Given the description of an element on the screen output the (x, y) to click on. 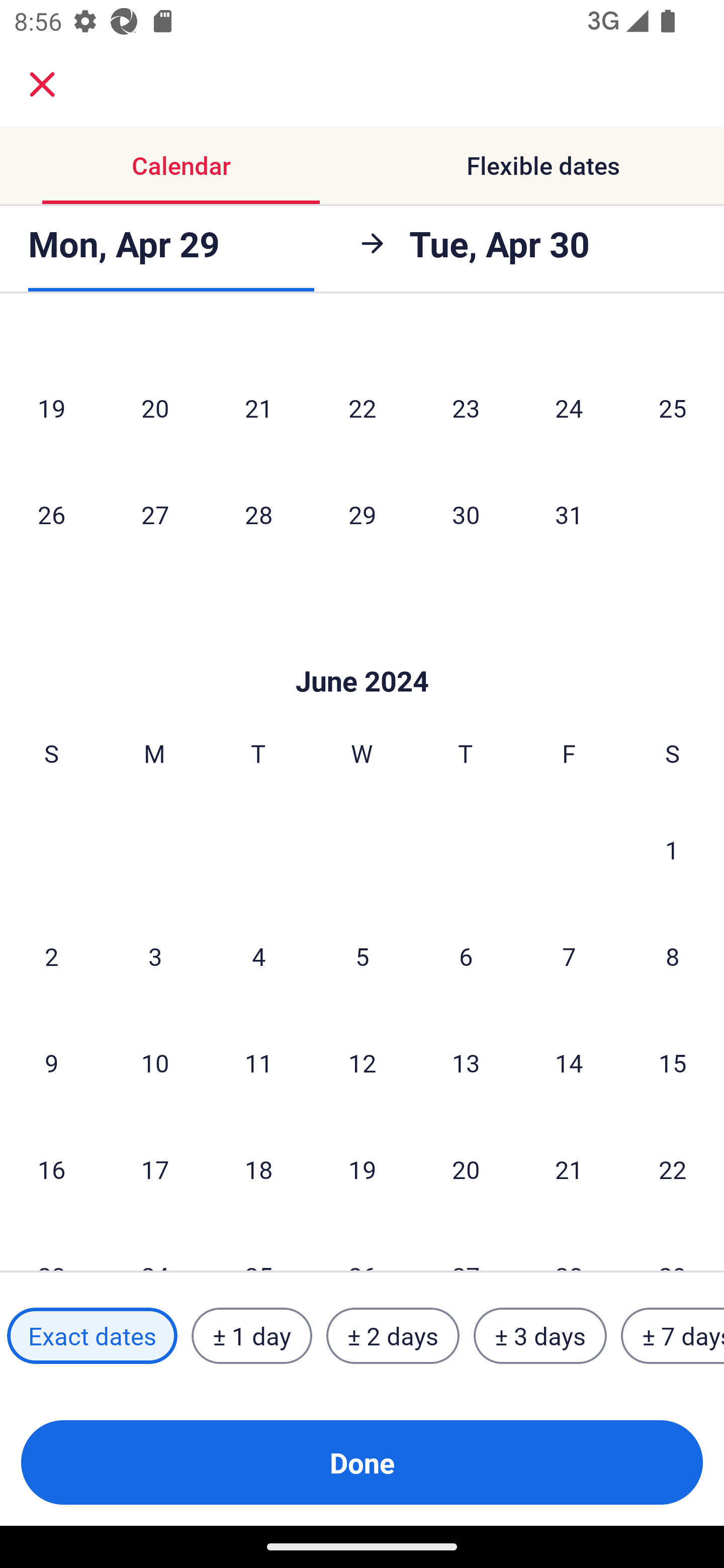
close. (42, 84)
Flexible dates (542, 164)
19 Sunday, May 19, 2024 (51, 407)
20 Monday, May 20, 2024 (155, 407)
21 Tuesday, May 21, 2024 (258, 407)
22 Wednesday, May 22, 2024 (362, 407)
23 Thursday, May 23, 2024 (465, 407)
24 Friday, May 24, 2024 (569, 407)
25 Saturday, May 25, 2024 (672, 407)
26 Sunday, May 26, 2024 (51, 514)
27 Monday, May 27, 2024 (155, 514)
28 Tuesday, May 28, 2024 (258, 514)
29 Wednesday, May 29, 2024 (362, 514)
30 Thursday, May 30, 2024 (465, 514)
31 Friday, May 31, 2024 (569, 514)
Skip to Done (362, 650)
1 Saturday, June 1, 2024 (672, 849)
2 Sunday, June 2, 2024 (51, 956)
3 Monday, June 3, 2024 (155, 956)
4 Tuesday, June 4, 2024 (258, 956)
5 Wednesday, June 5, 2024 (362, 956)
6 Thursday, June 6, 2024 (465, 956)
7 Friday, June 7, 2024 (569, 956)
8 Saturday, June 8, 2024 (672, 956)
9 Sunday, June 9, 2024 (51, 1062)
10 Monday, June 10, 2024 (155, 1062)
11 Tuesday, June 11, 2024 (258, 1062)
12 Wednesday, June 12, 2024 (362, 1062)
13 Thursday, June 13, 2024 (465, 1062)
14 Friday, June 14, 2024 (569, 1062)
15 Saturday, June 15, 2024 (672, 1062)
16 Sunday, June 16, 2024 (51, 1169)
17 Monday, June 17, 2024 (155, 1169)
18 Tuesday, June 18, 2024 (258, 1169)
19 Wednesday, June 19, 2024 (362, 1169)
20 Thursday, June 20, 2024 (465, 1169)
21 Friday, June 21, 2024 (569, 1169)
22 Saturday, June 22, 2024 (672, 1169)
Exact dates (92, 1335)
± 1 day (251, 1335)
± 2 days (392, 1335)
± 3 days (539, 1335)
± 7 days (672, 1335)
Done (361, 1462)
